Given the description of an element on the screen output the (x, y) to click on. 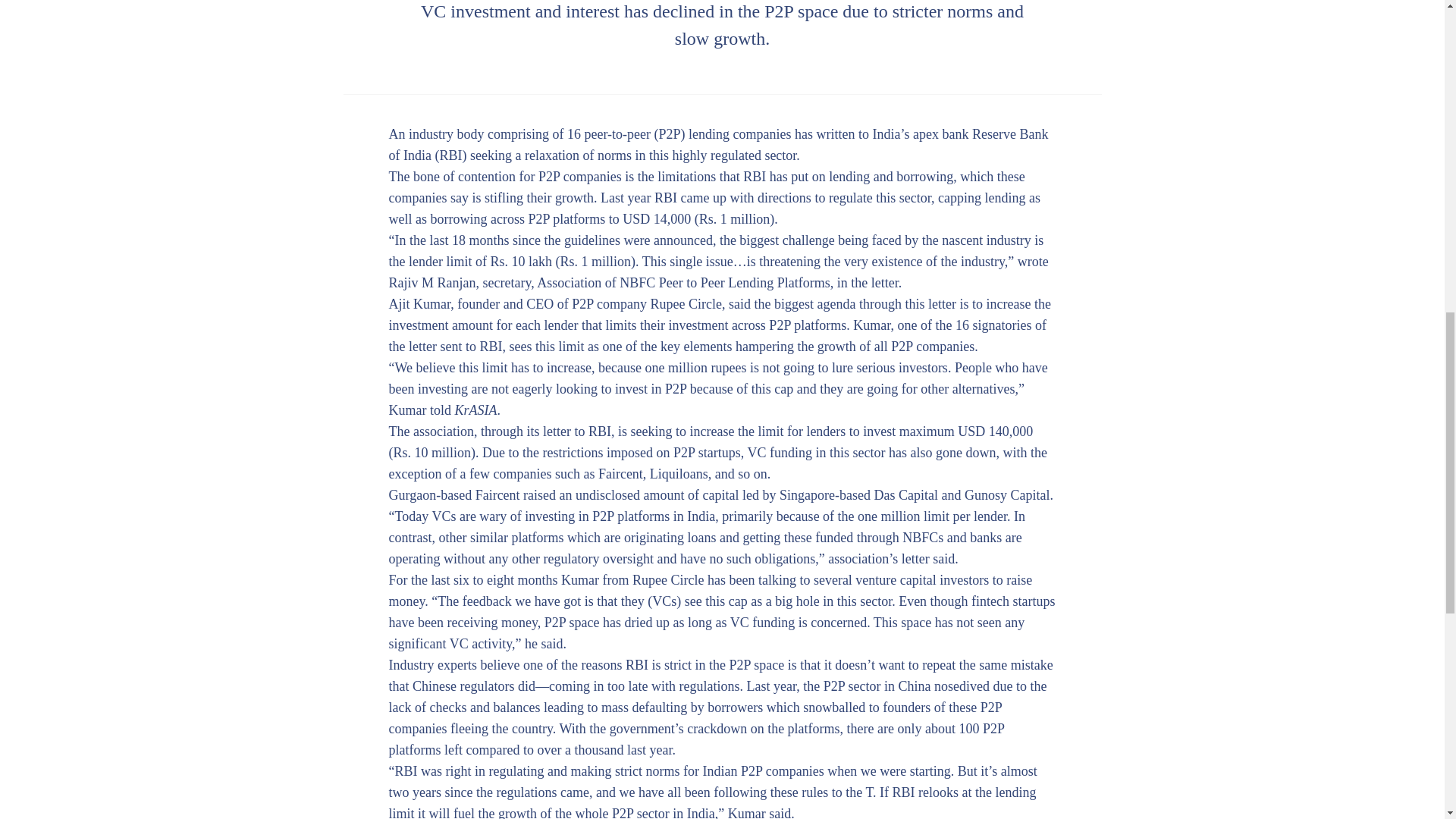
there are only about 100 P2P platforms left  (696, 739)
wrote (1032, 261)
